Given the description of an element on the screen output the (x, y) to click on. 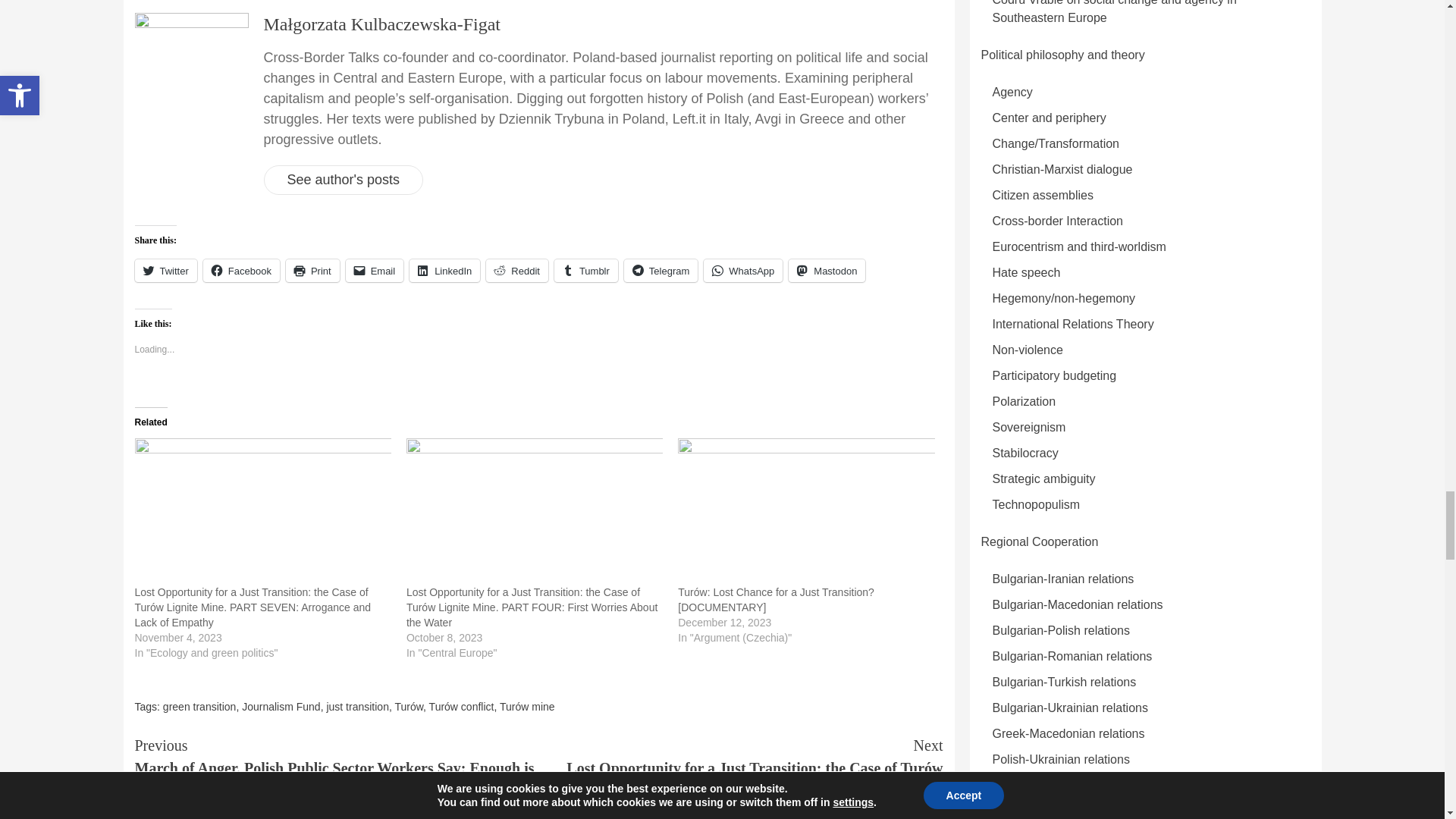
Click to share on Telegram (660, 270)
Click to share on WhatsApp (743, 270)
Click to print (312, 270)
Click to share on Twitter (165, 270)
Click to email a link to a friend (375, 270)
Click to share on Reddit (517, 270)
Click to share on Mastodon (826, 270)
Click to share on LinkedIn (444, 270)
Click to share on Facebook (241, 270)
Click to share on Tumblr (585, 270)
